Given the description of an element on the screen output the (x, y) to click on. 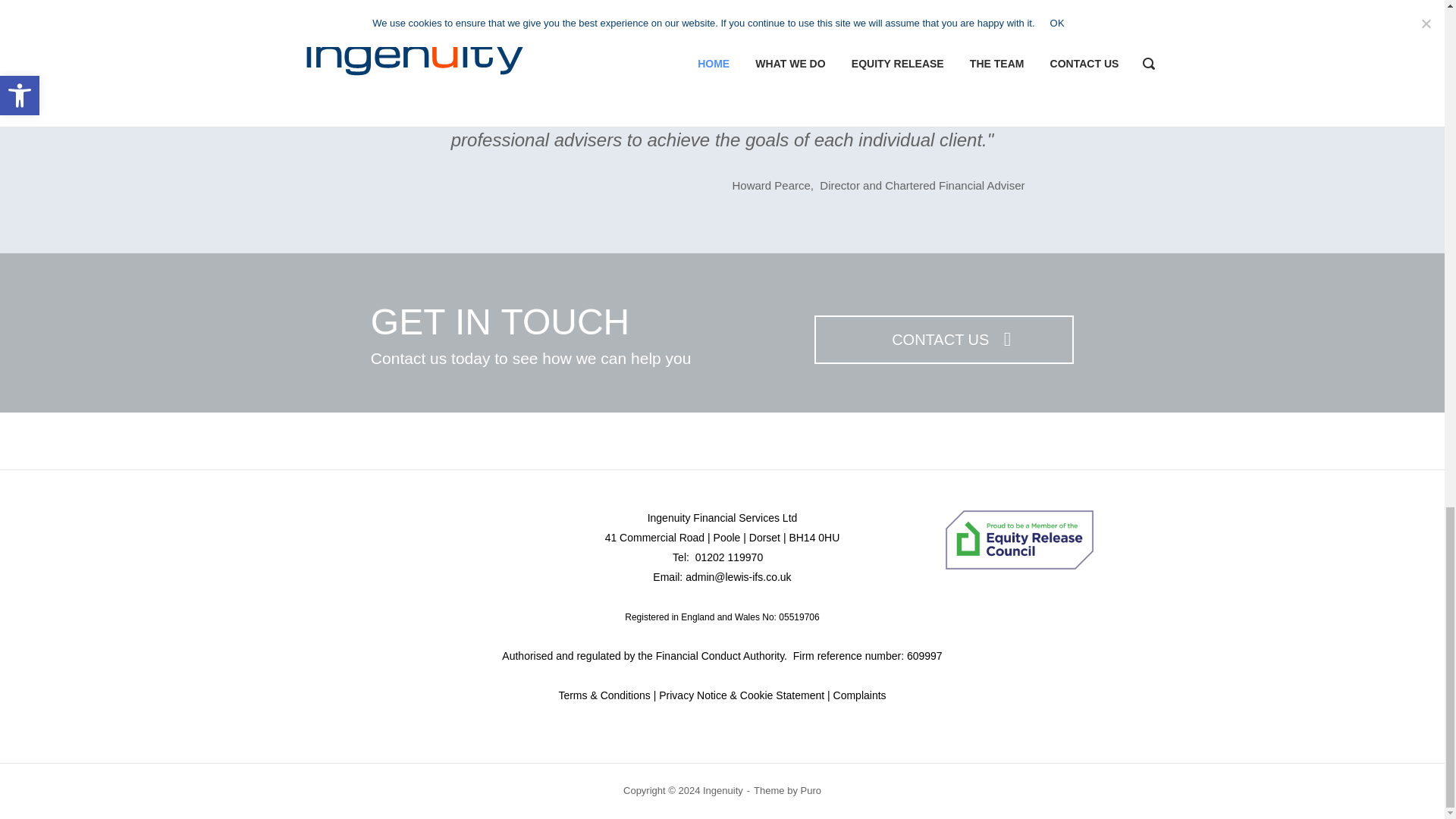
CONTACT US (943, 339)
Complaints (857, 695)
Puro (810, 790)
